Given the description of an element on the screen output the (x, y) to click on. 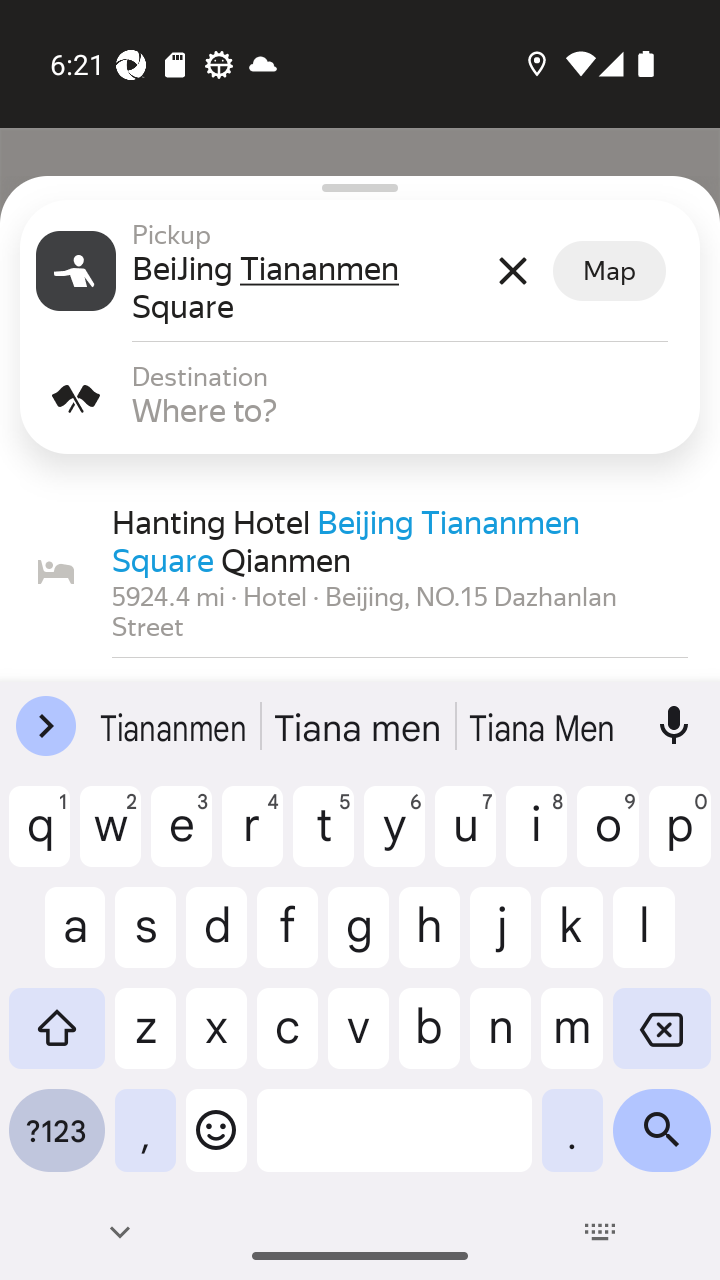
Map (609, 271)
Clear text box (512, 270)
BeiJing Tiananmen Square (307, 287)
Destination Destination Where to? (359, 397)
Where to? (407, 410)
